Given the description of an element on the screen output the (x, y) to click on. 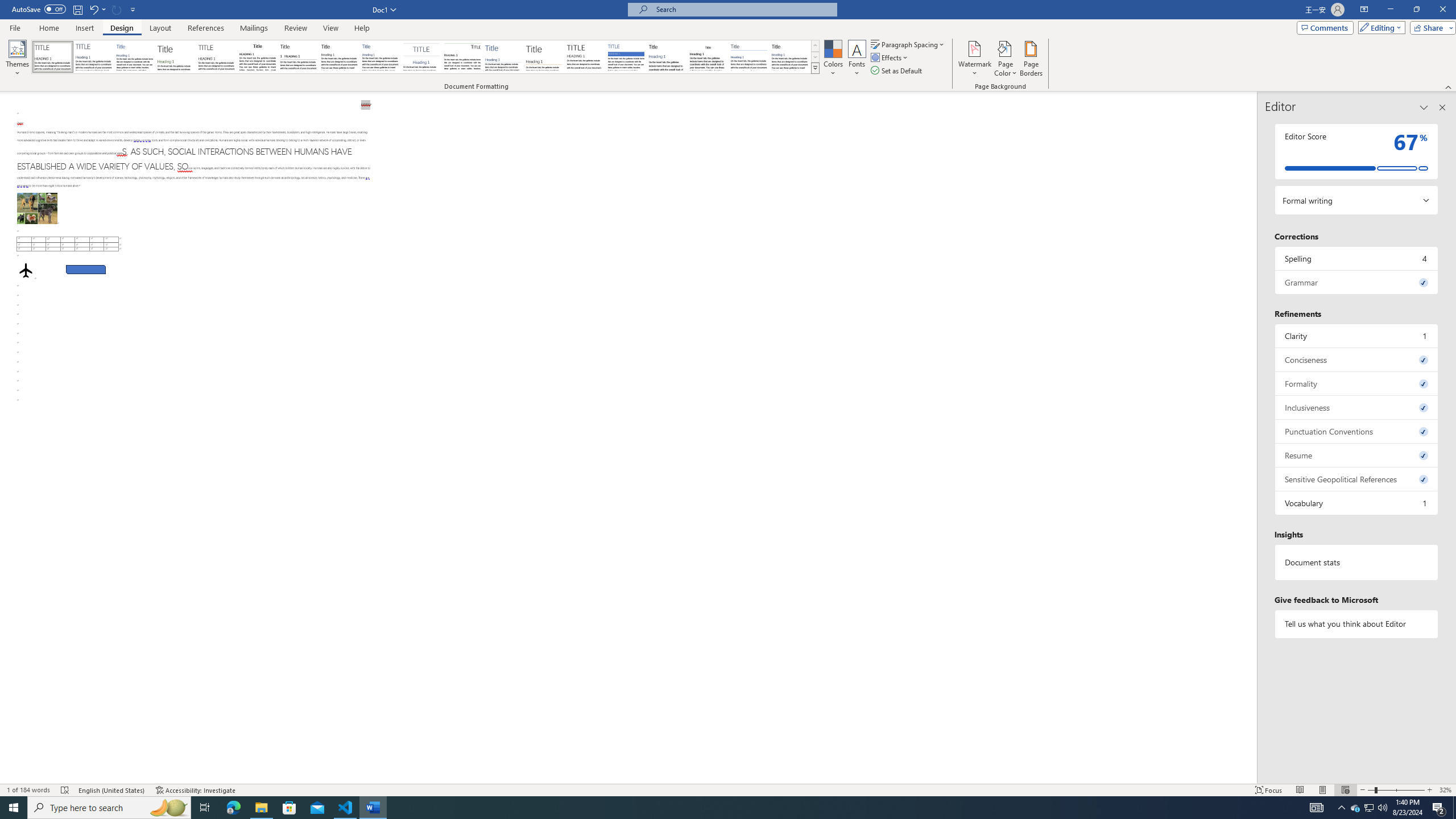
Set as Default (897, 69)
Airplane with solid fill (25, 270)
Basic (Simple) (135, 56)
Word 2010 (749, 56)
Zoom 32% (1445, 790)
